Given the description of an element on the screen output the (x, y) to click on. 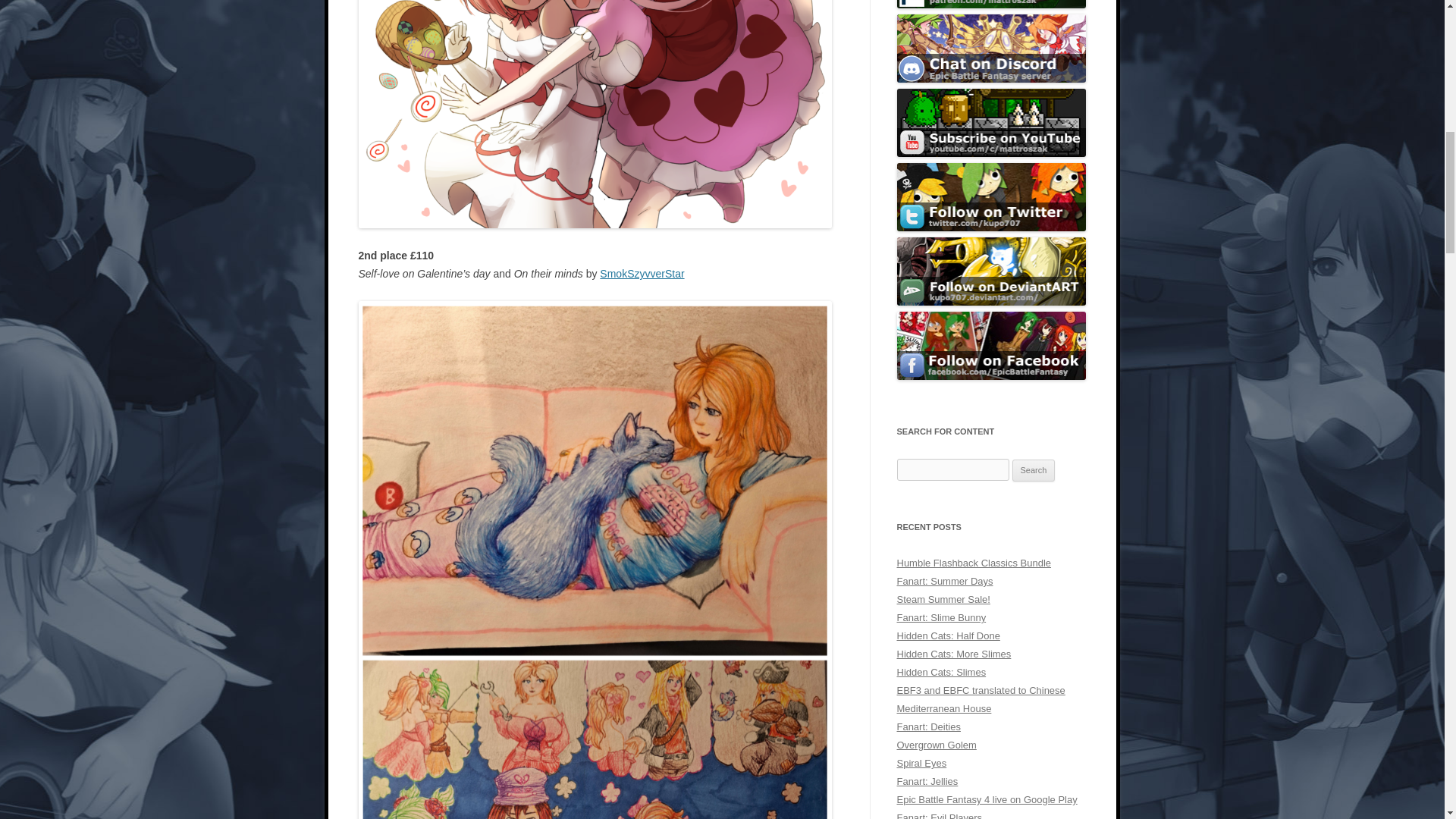
Search (1033, 470)
YouTube (991, 122)
Facebook (991, 346)
DeviantArt (991, 271)
Twitter (991, 196)
SmokSzyvverStar (641, 273)
Discord (991, 48)
Patreon (991, 4)
